Given the description of an element on the screen output the (x, y) to click on. 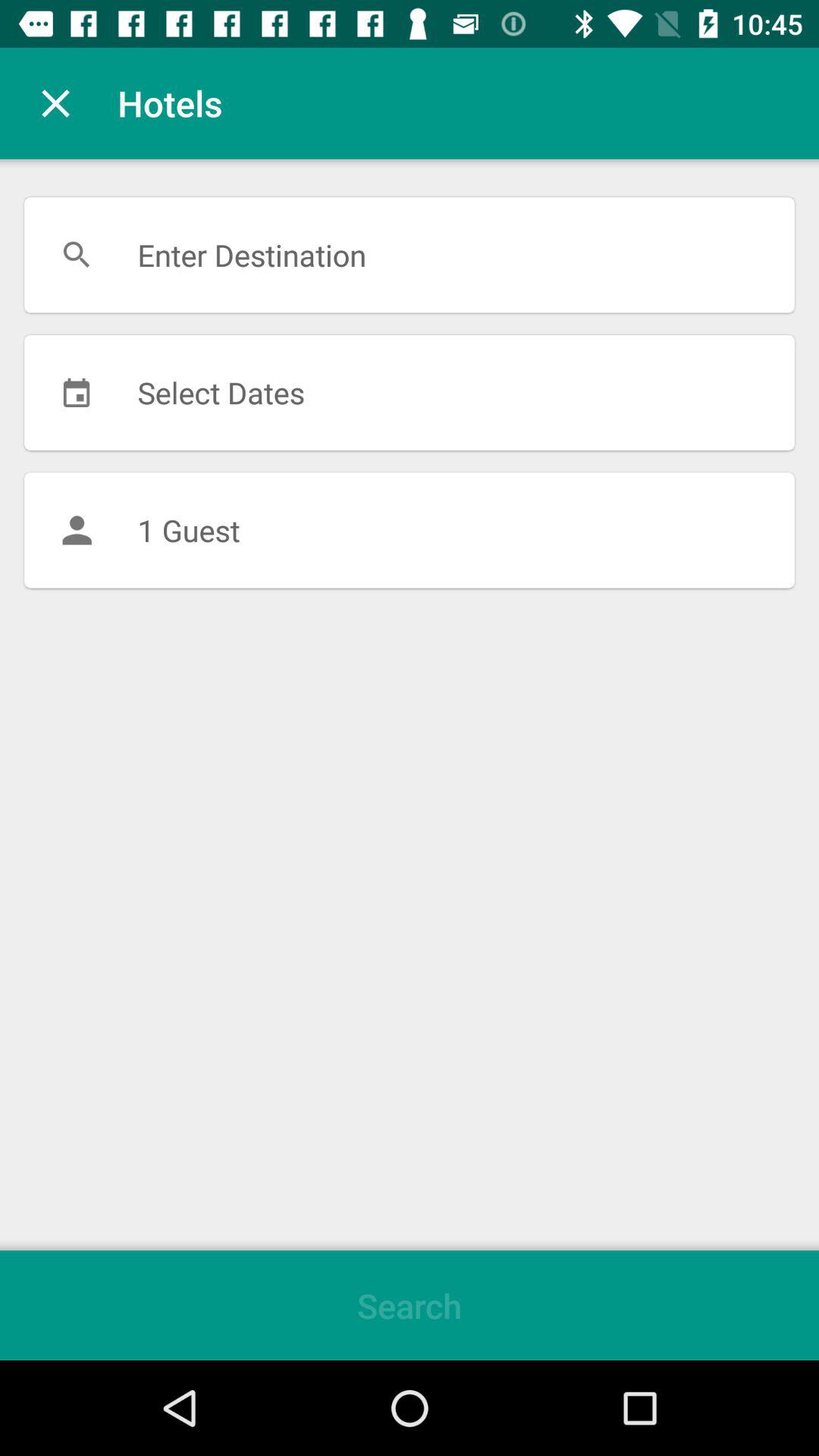
turn off select dates item (409, 392)
